Given the description of an element on the screen output the (x, y) to click on. 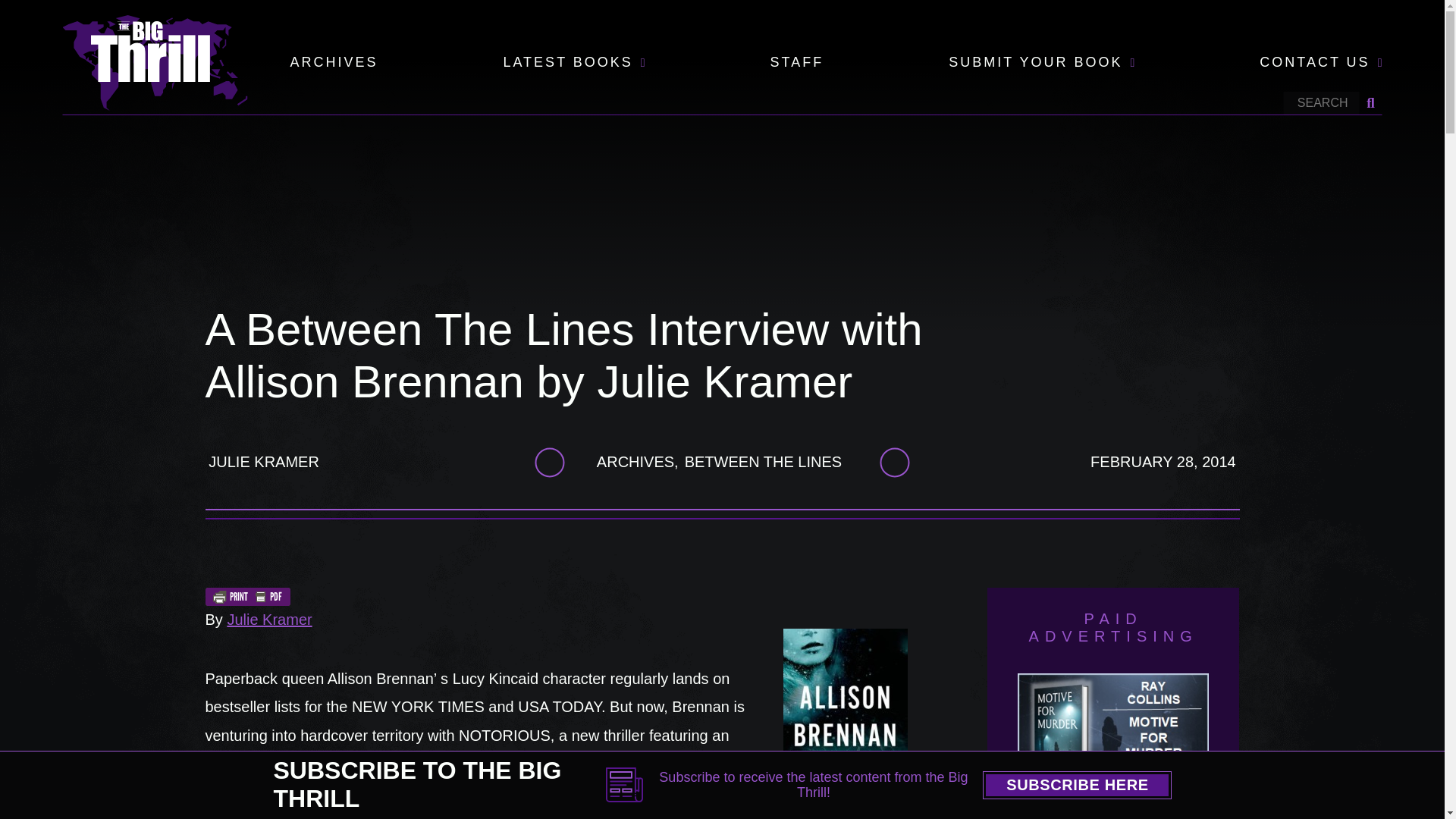
Motive for Murder by Ray Collins (1113, 743)
CONTACT US (1314, 62)
ARCHIVES (333, 62)
STAFF (797, 62)
SUBMIT YOUR BOOK (1035, 62)
LATEST BOOKS (566, 62)
